Given the description of an element on the screen output the (x, y) to click on. 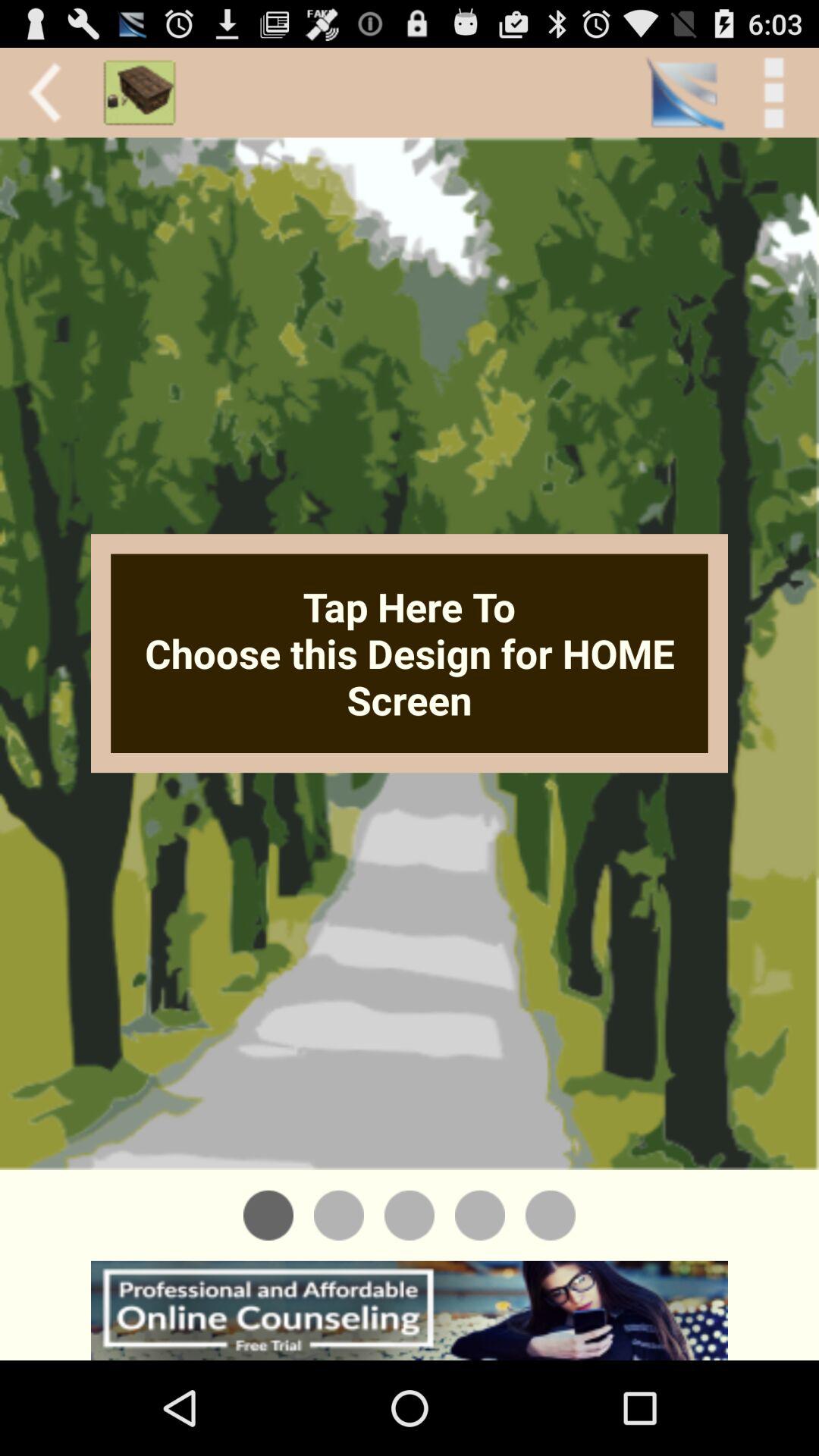
see different design (409, 1215)
